Given the description of an element on the screen output the (x, y) to click on. 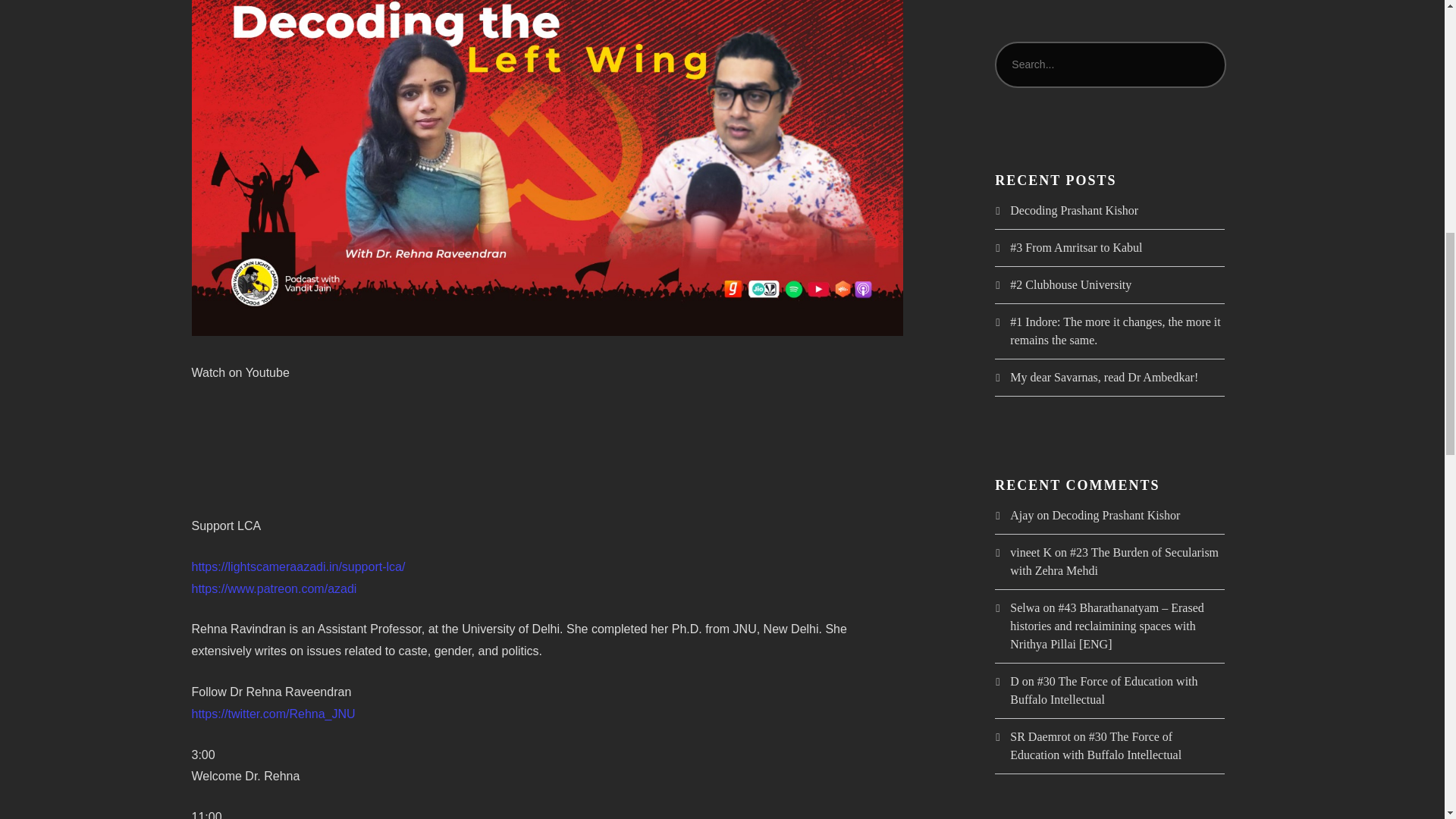
My dear Savarnas, read Dr Ambedkar! (1104, 377)
Decoding Prashant Kishor (1074, 210)
Decoding Prashant Kishor (1115, 514)
